Given the description of an element on the screen output the (x, y) to click on. 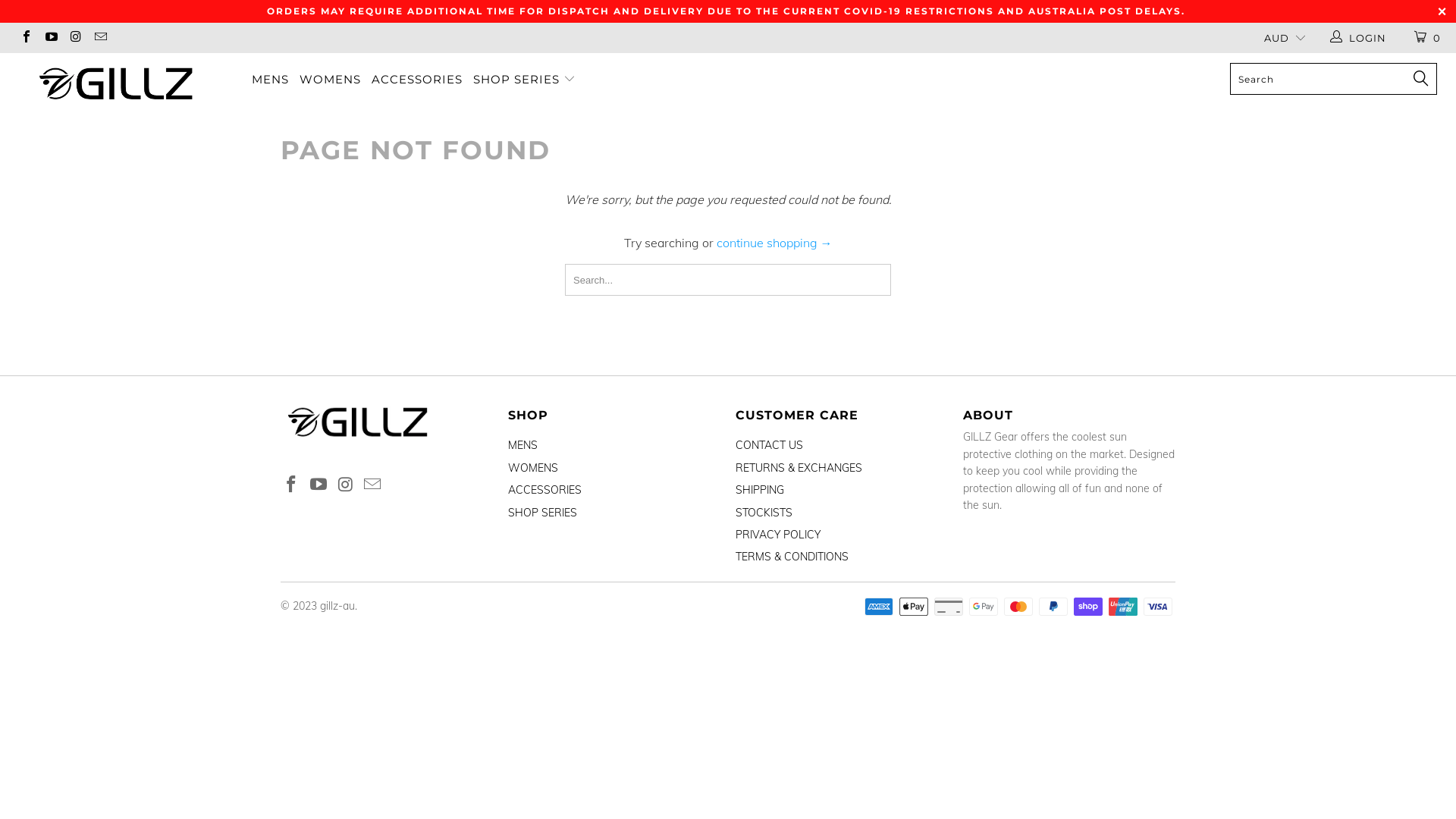
gillz-au on YouTube Element type: hover (49, 37)
gillz-au Element type: hover (116, 83)
SHOP SERIES Element type: text (524, 79)
ACCESSORIES Element type: text (544, 489)
LOGIN Element type: text (1358, 37)
Email gillz-au Element type: hover (372, 484)
TERMS & CONDITIONS Element type: text (791, 556)
WOMENS Element type: text (533, 467)
gillz-au on Facebook Element type: hover (25, 37)
CONTACT US Element type: text (769, 444)
SHOP SERIES Element type: text (542, 512)
RETURNS & EXCHANGES Element type: text (798, 467)
gillz-au on Instagram Element type: hover (345, 484)
gillz-au on Facebook Element type: hover (291, 484)
Email gillz-au Element type: hover (99, 37)
PRIVACY POLICY Element type: text (777, 534)
MENS Element type: text (522, 444)
ACCESSORIES Element type: text (416, 79)
gillz-au on YouTube Element type: hover (318, 484)
gillz-au on Instagram Element type: hover (74, 37)
STOCKISTS Element type: text (763, 512)
WOMENS Element type: text (329, 79)
SHIPPING Element type: text (759, 489)
MENS Element type: text (269, 79)
